Given the description of an element on the screen output the (x, y) to click on. 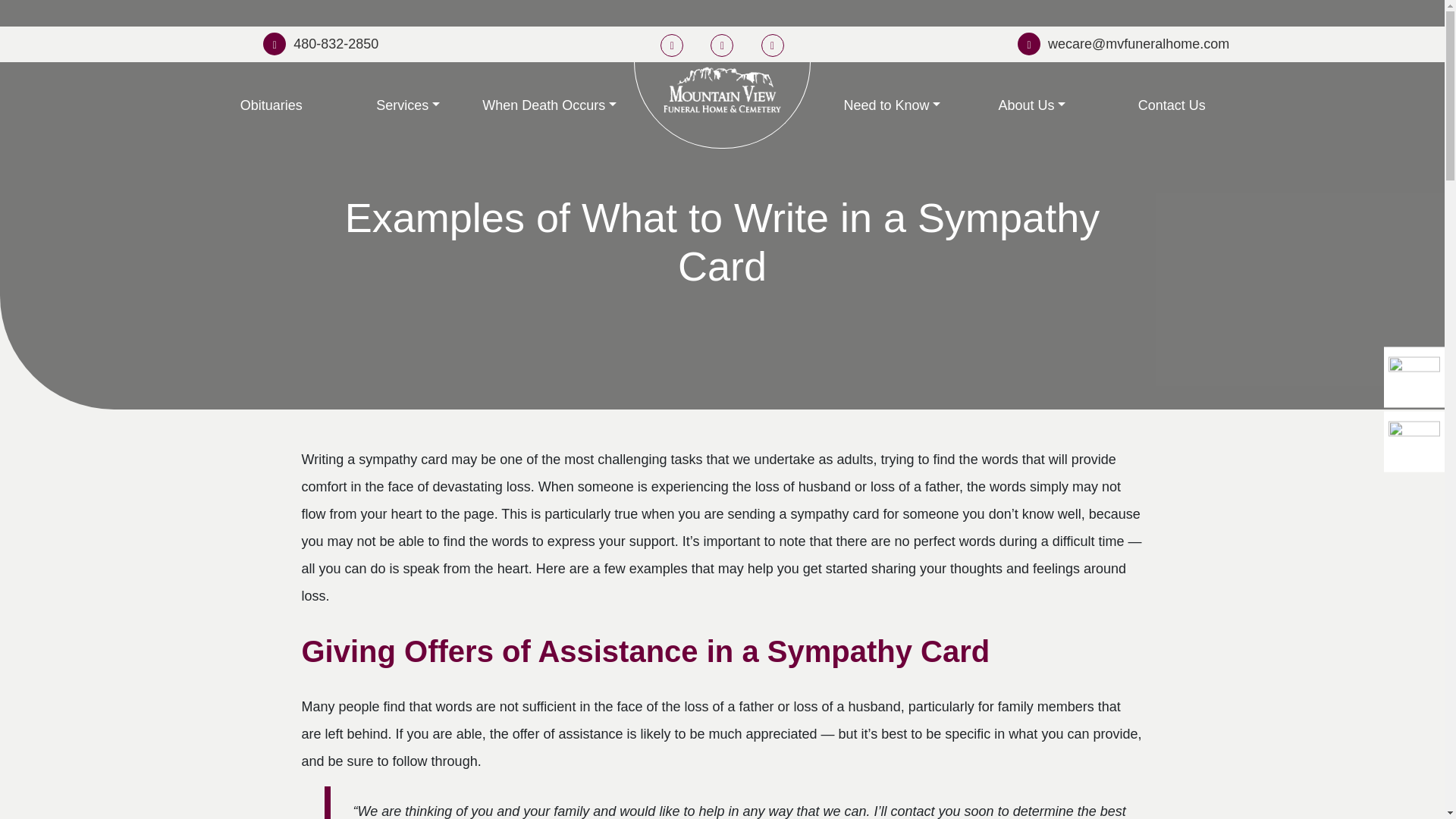
Need to Know (891, 104)
Mountain View Funeral Home Social Media (671, 44)
Obituaries (271, 104)
Call Us (320, 43)
Mountain View Funeral Home Social Media (772, 44)
480-832-2850 (320, 43)
Mountain View Funeral Home Social Media (721, 44)
When Death Occurs (549, 104)
Email Us (1122, 43)
About Us (1032, 104)
